Given the description of an element on the screen output the (x, y) to click on. 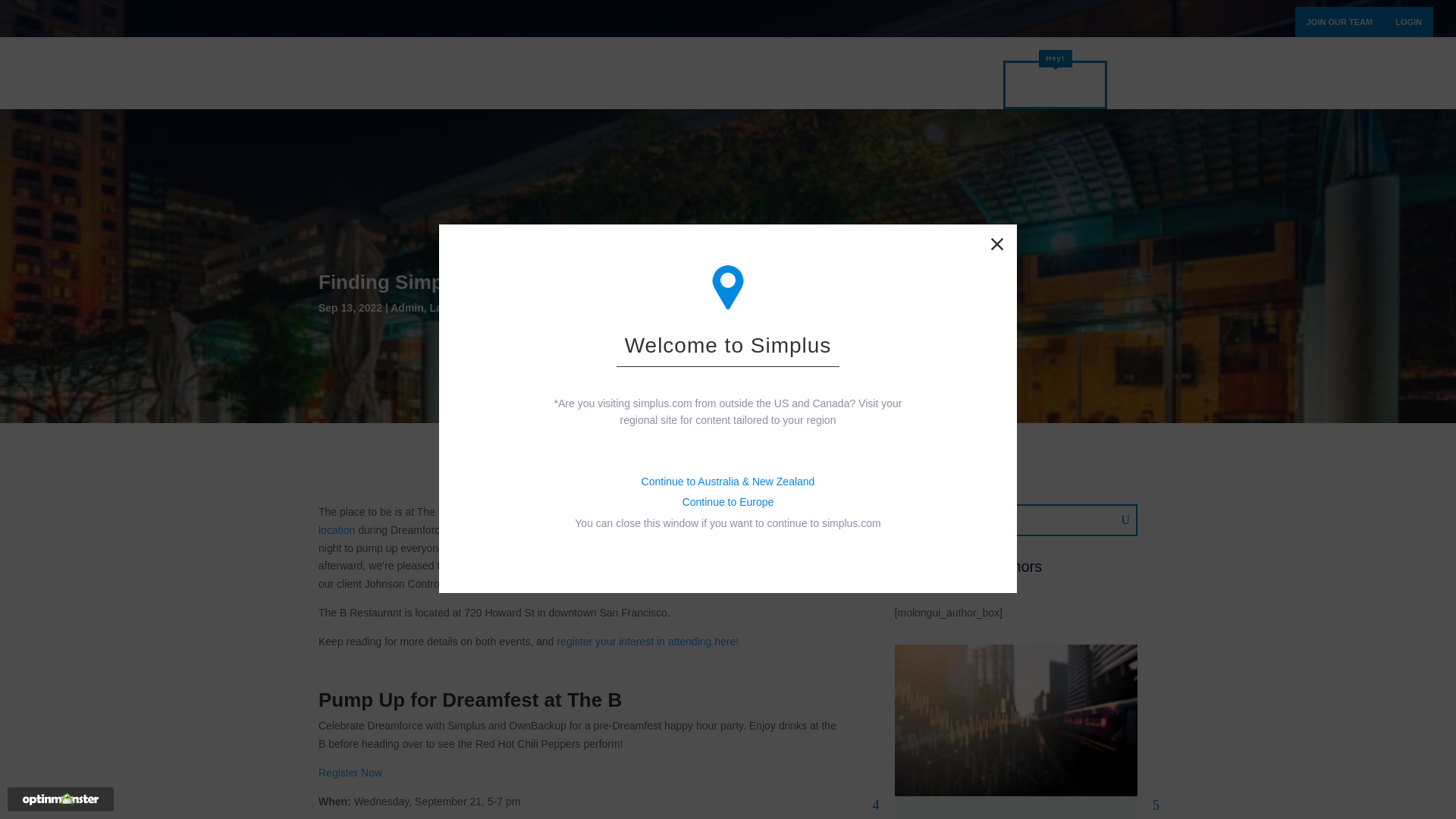
LOGIN (1408, 21)
Resources (951, 91)
What We Do (729, 91)
JOIN OUR TEAM (1339, 21)
Who We Are (842, 91)
